Given the description of an element on the screen output the (x, y) to click on. 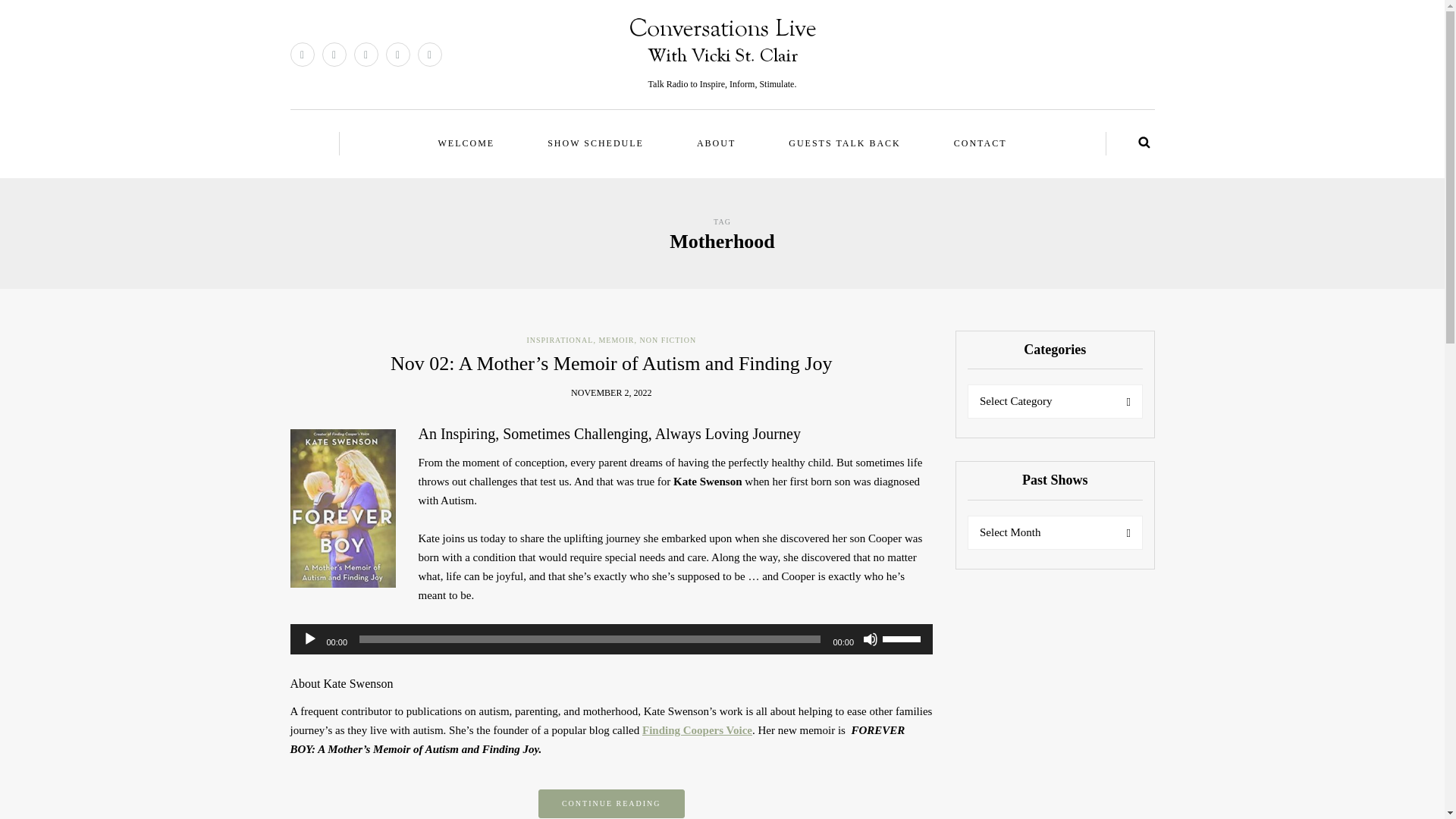
MEMOIR (615, 339)
Finding Coopers Voice (697, 729)
SHOW SCHEDULE (595, 143)
NON FICTION (668, 339)
Mute (870, 639)
CONTINUE READING (611, 803)
WELCOME (465, 143)
GUESTS TALK BACK (844, 143)
Play (309, 639)
INSPIRATIONAL (558, 339)
